Given the description of an element on the screen output the (x, y) to click on. 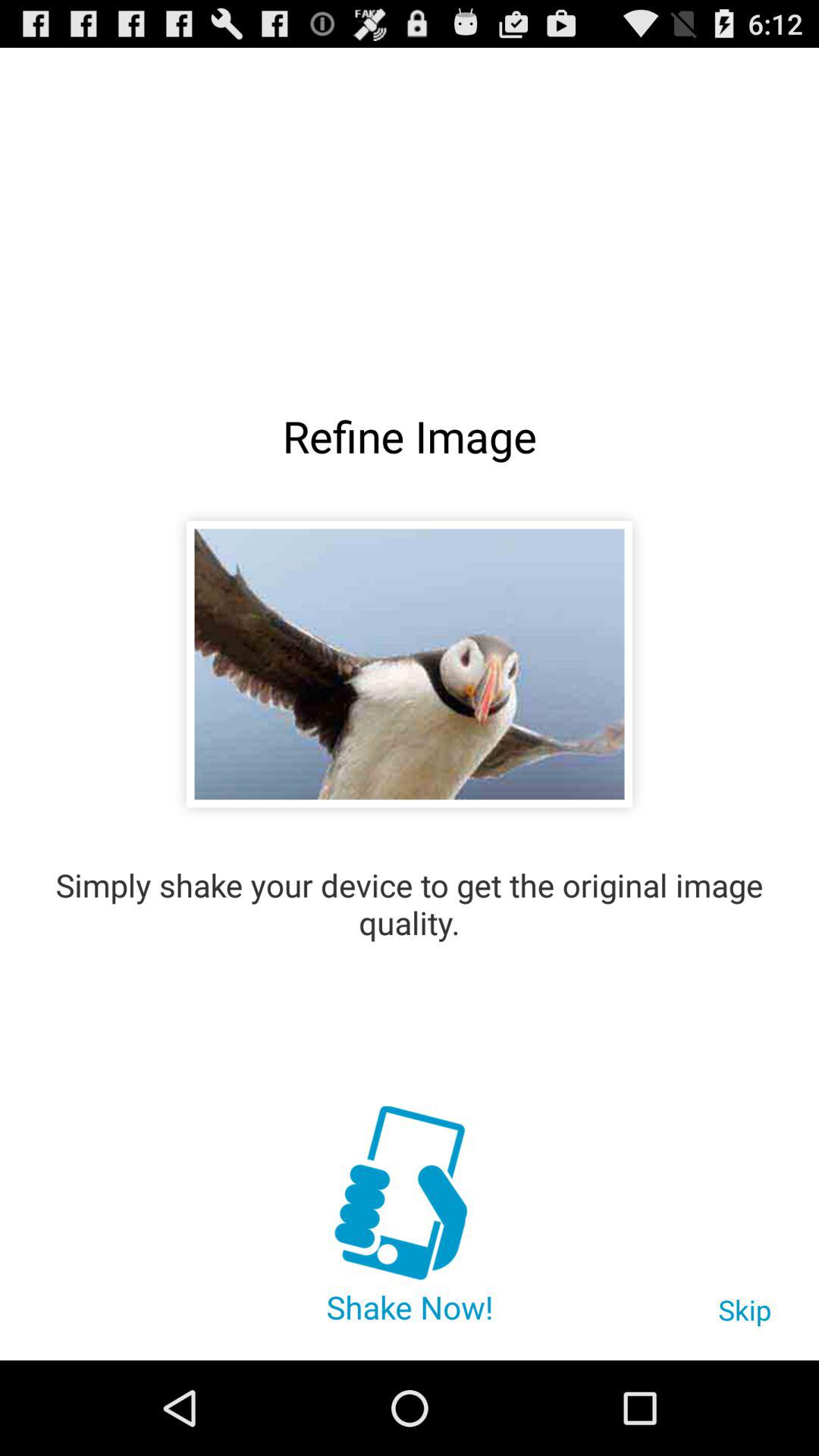
tap skip item (744, 1317)
